Given the description of an element on the screen output the (x, y) to click on. 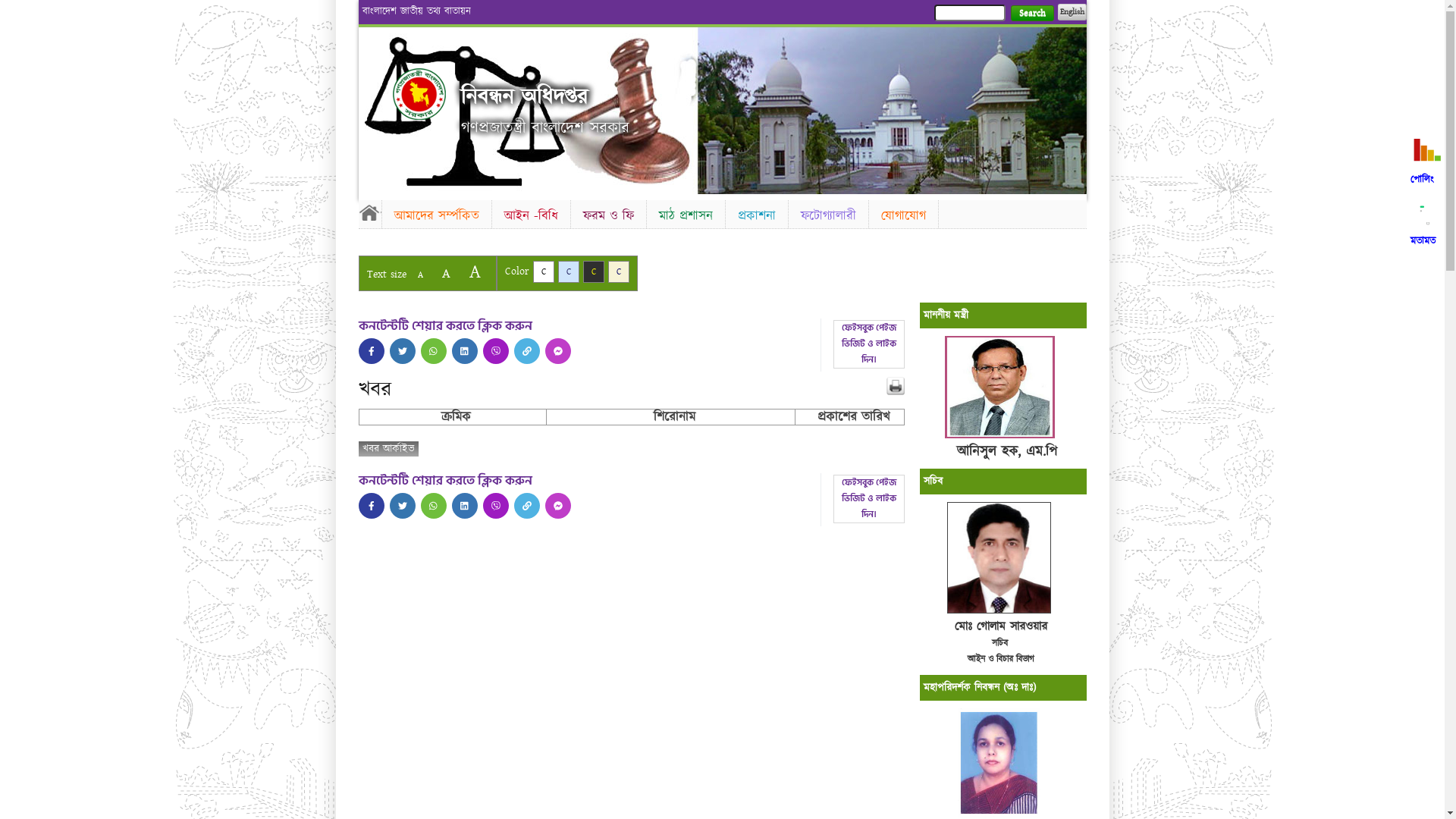
A Element type: text (474, 271)
Home Element type: hover (368, 211)
A Element type: text (445, 273)
English Element type: text (1071, 11)
C Element type: text (618, 271)
Home Element type: hover (418, 93)
C Element type: text (542, 271)
C Element type: text (568, 271)
C Element type: text (592, 271)
A Element type: text (419, 274)
Search Element type: text (1031, 13)
